Given the description of an element on the screen output the (x, y) to click on. 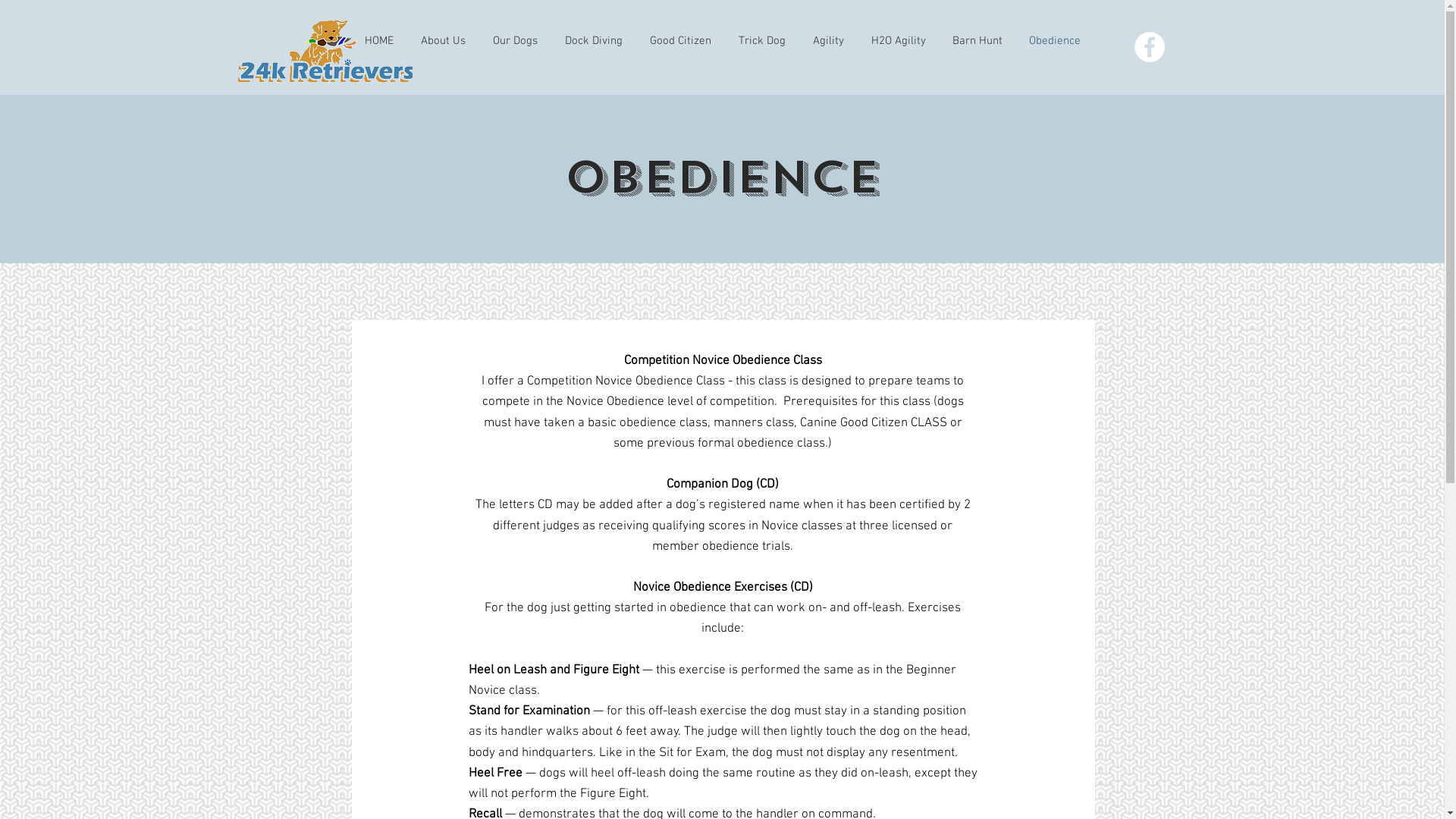
Good Citizen Element type: text (679, 40)
Obedience Element type: text (1055, 40)
Barn Hunt Element type: text (976, 40)
H2O Agility Element type: text (897, 40)
About Us Element type: text (442, 40)
Trick Dog Element type: text (761, 40)
HOME Element type: text (378, 40)
Agility Element type: text (828, 40)
Dock Diving Element type: text (592, 40)
Our Dogs Element type: text (515, 40)
